Given the description of an element on the screen output the (x, y) to click on. 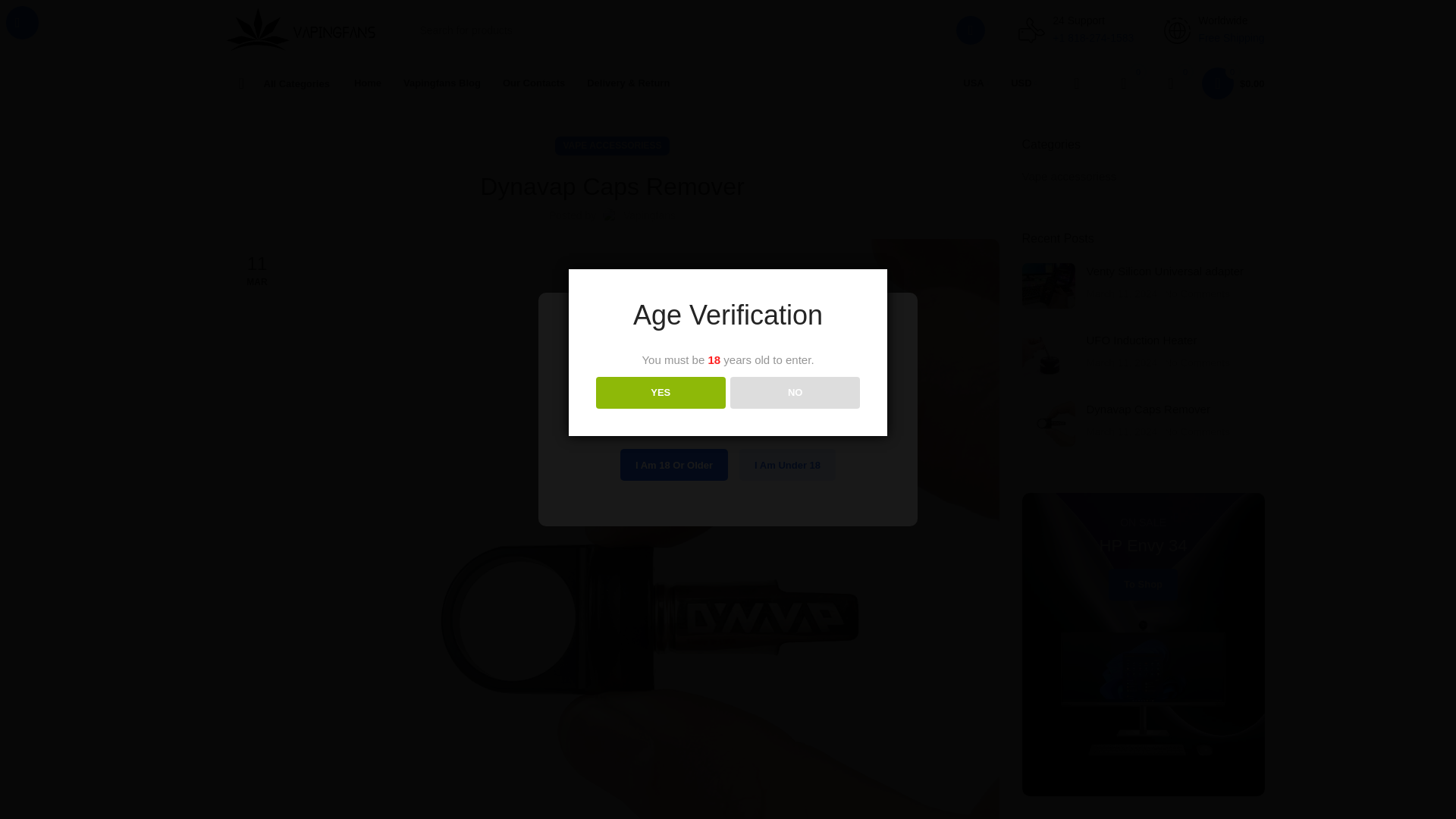
Venty Silicon Universal adapter (1164, 270)
Search (970, 30)
My account (1076, 82)
Permalink to UFO Induction Heater (1141, 339)
Vapingfans (649, 215)
Permalink to Venty Silicon Universal adapter (1164, 270)
Shopping cart (1232, 82)
USD (1023, 82)
Vapingfans Blog (441, 82)
All Categories (277, 82)
USA (975, 82)
Search for products (697, 30)
0 (1170, 82)
VAPE ACCESSORIESS (611, 145)
I Am 18 Or Older (674, 464)
